Given the description of an element on the screen output the (x, y) to click on. 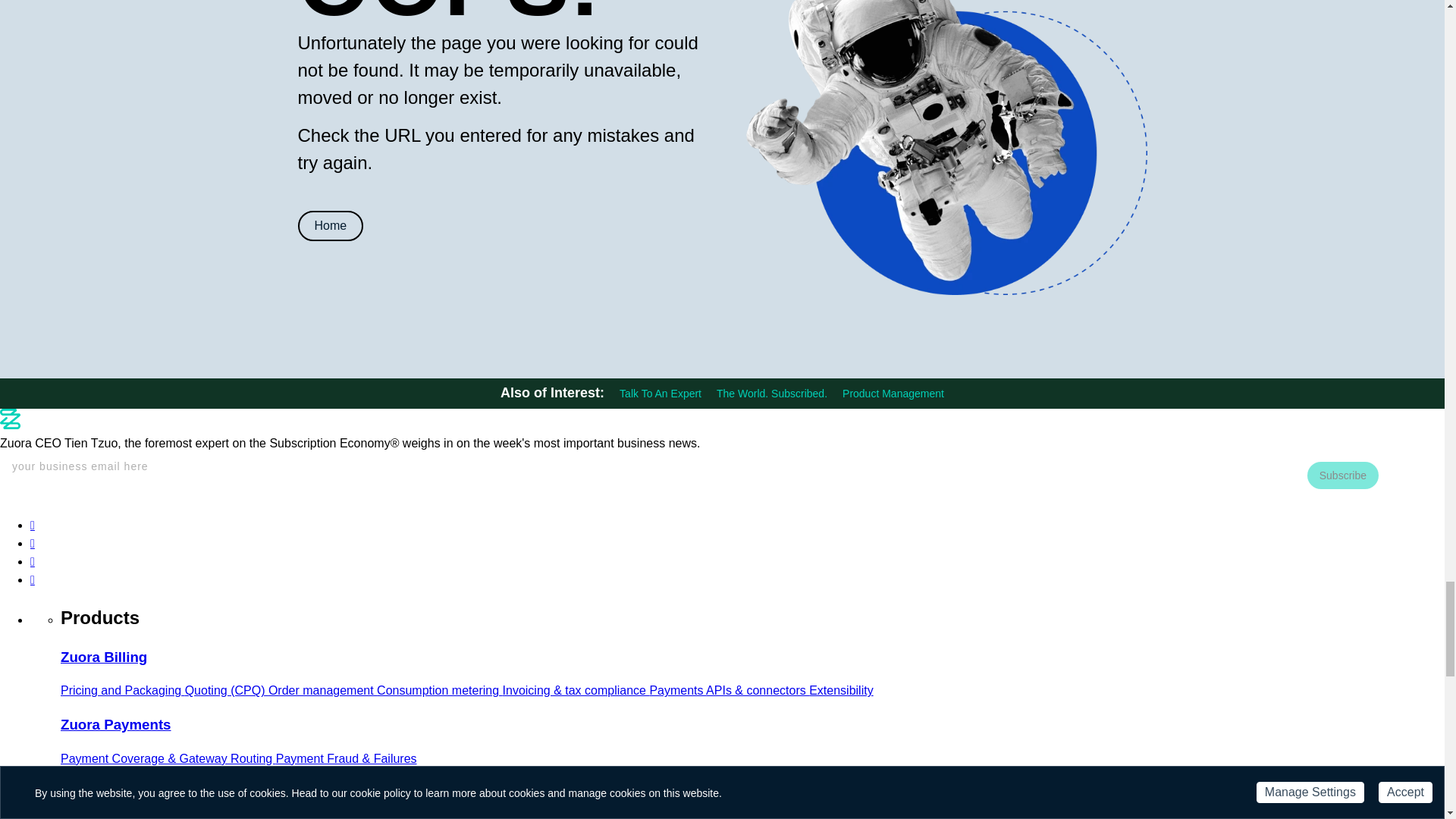
Home (329, 225)
Product Management (893, 393)
Talk To An Expert (660, 393)
The World. Subscribed. (771, 393)
